Given the description of an element on the screen output the (x, y) to click on. 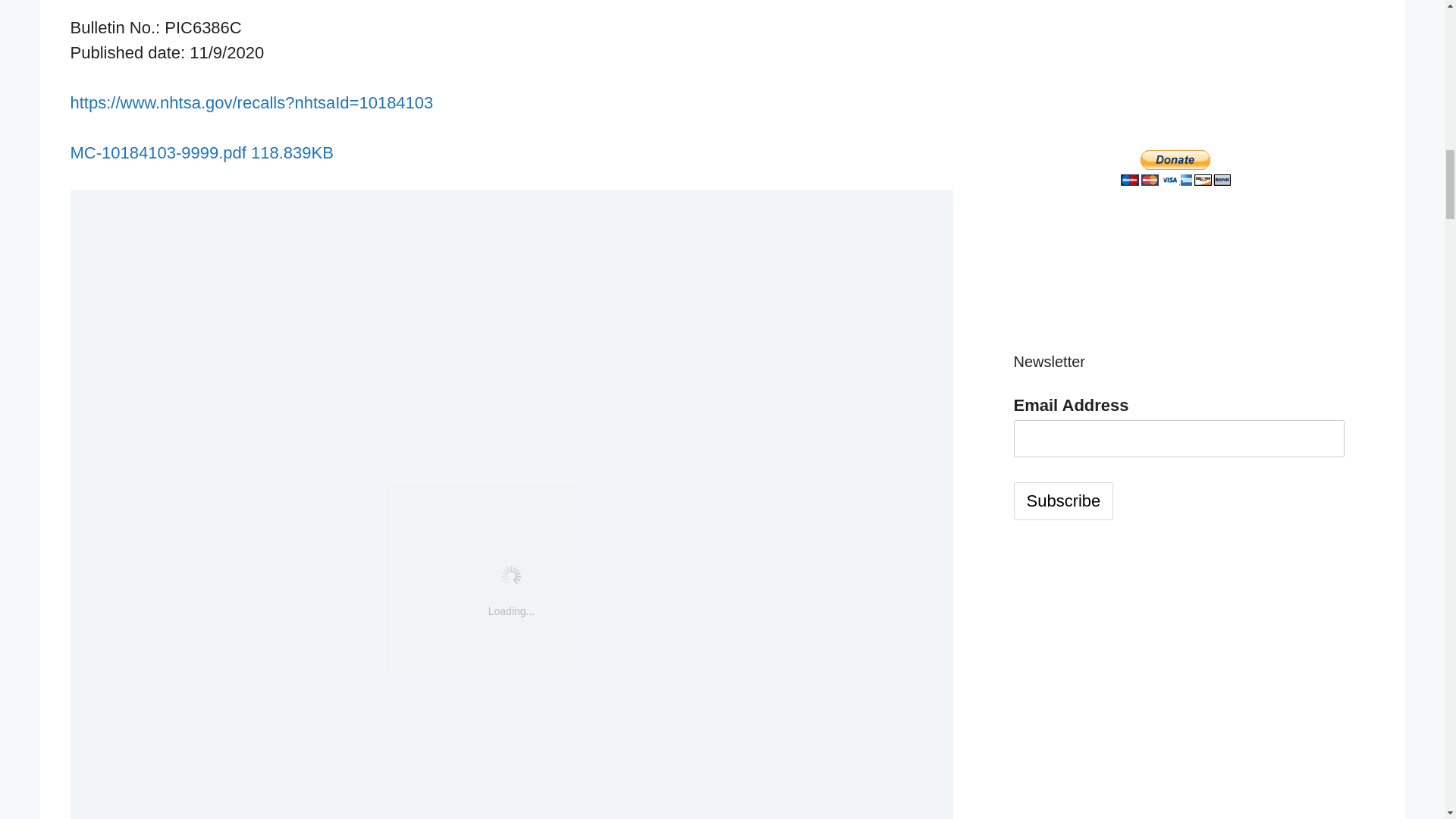
Subscribe (1063, 500)
